Given the description of an element on the screen output the (x, y) to click on. 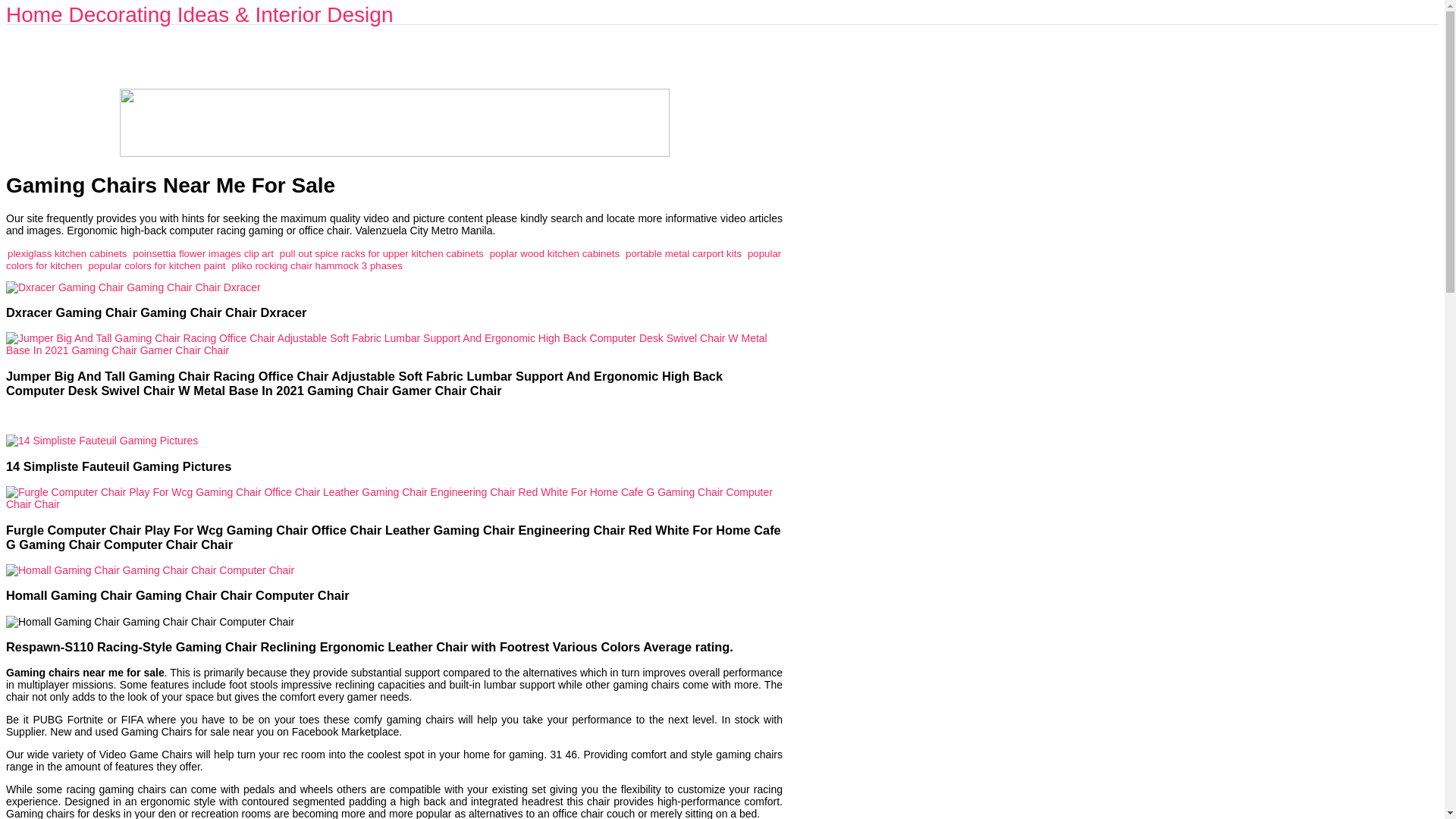
popular colors for kitchen paint (156, 265)
pull out spice racks for upper kitchen cabinets (381, 252)
portable metal carport kits (683, 252)
poinsettia flower images clip art (202, 252)
pliko rocking chair hammock 3 phases (316, 265)
plexiglass kitchen cabinets (66, 252)
popular colors for kitchen (392, 259)
poplar wood kitchen cabinets (554, 252)
